Given the description of an element on the screen output the (x, y) to click on. 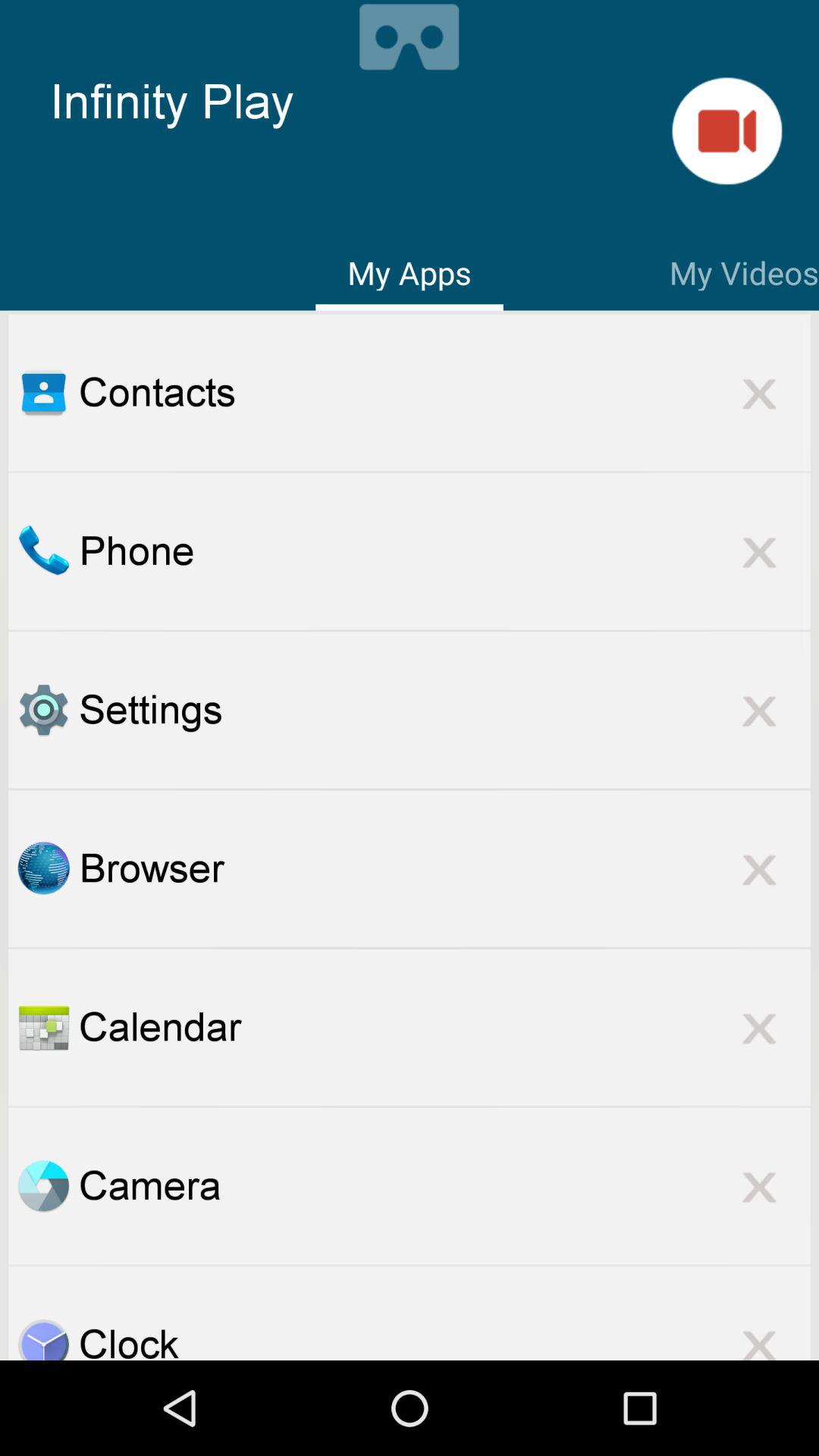
close this app (759, 868)
